Given the description of an element on the screen output the (x, y) to click on. 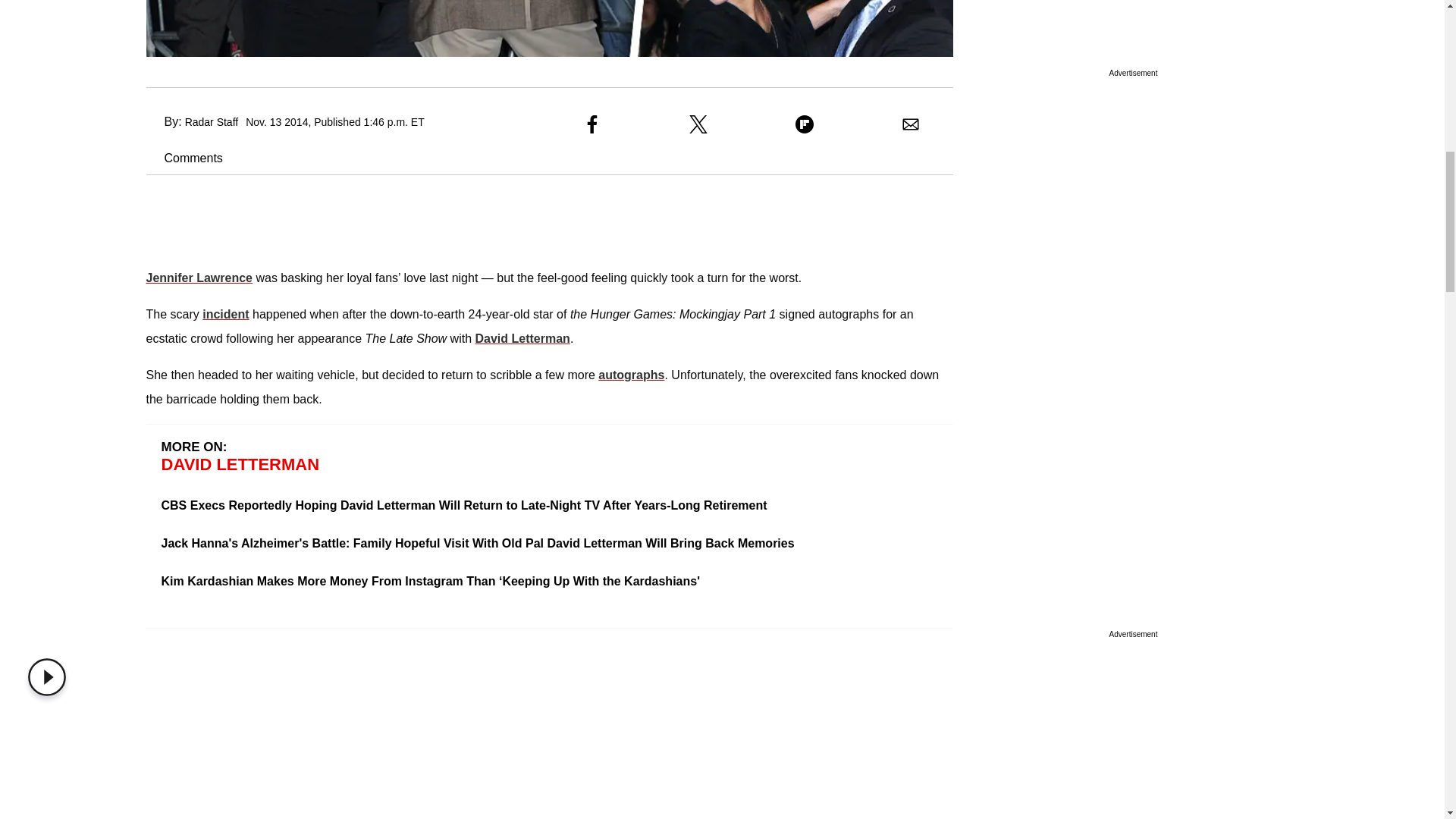
autographs (630, 374)
Share to Facebook (590, 124)
David Letterman (523, 338)
incident (225, 314)
Share to Email (909, 124)
Radar Staff (211, 121)
Share to Flipboard (803, 124)
Share to X (697, 124)
Jennifer Lawrence (198, 277)
Comments (183, 157)
